Given the description of an element on the screen output the (x, y) to click on. 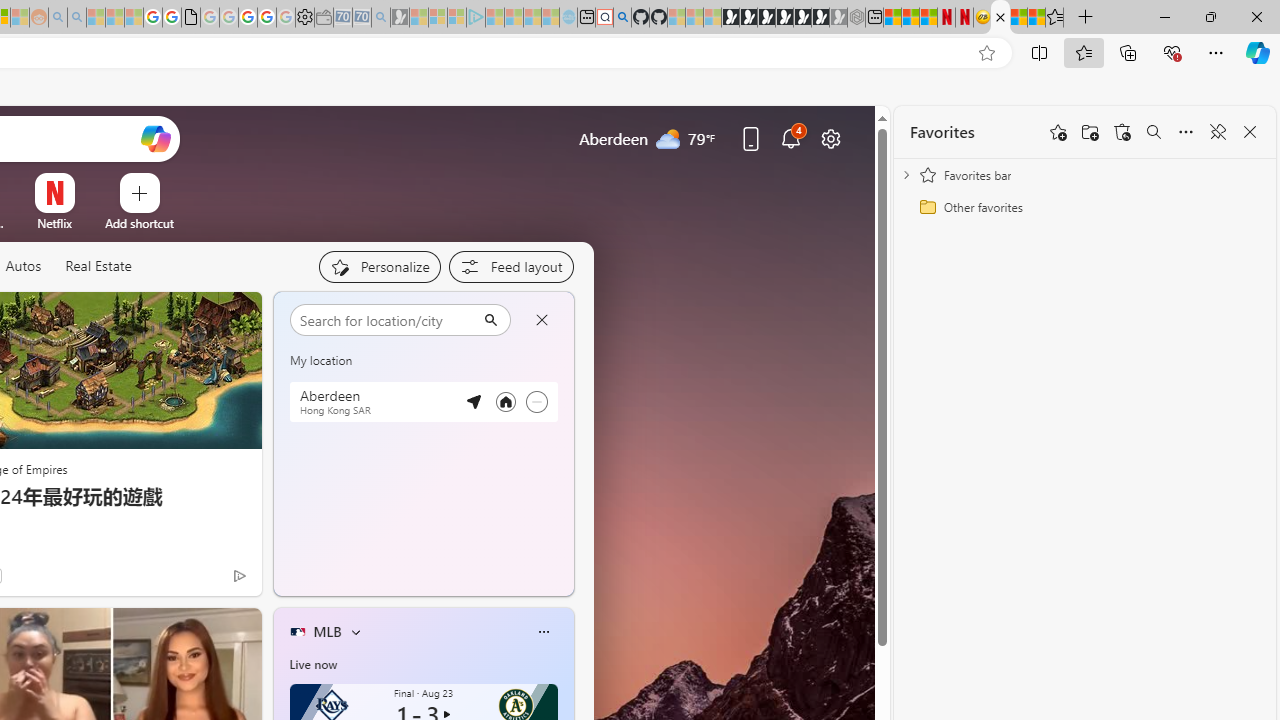
Page settings (831, 138)
Cancel (541, 319)
Detected location (473, 401)
